Given the description of an element on the screen output the (x, y) to click on. 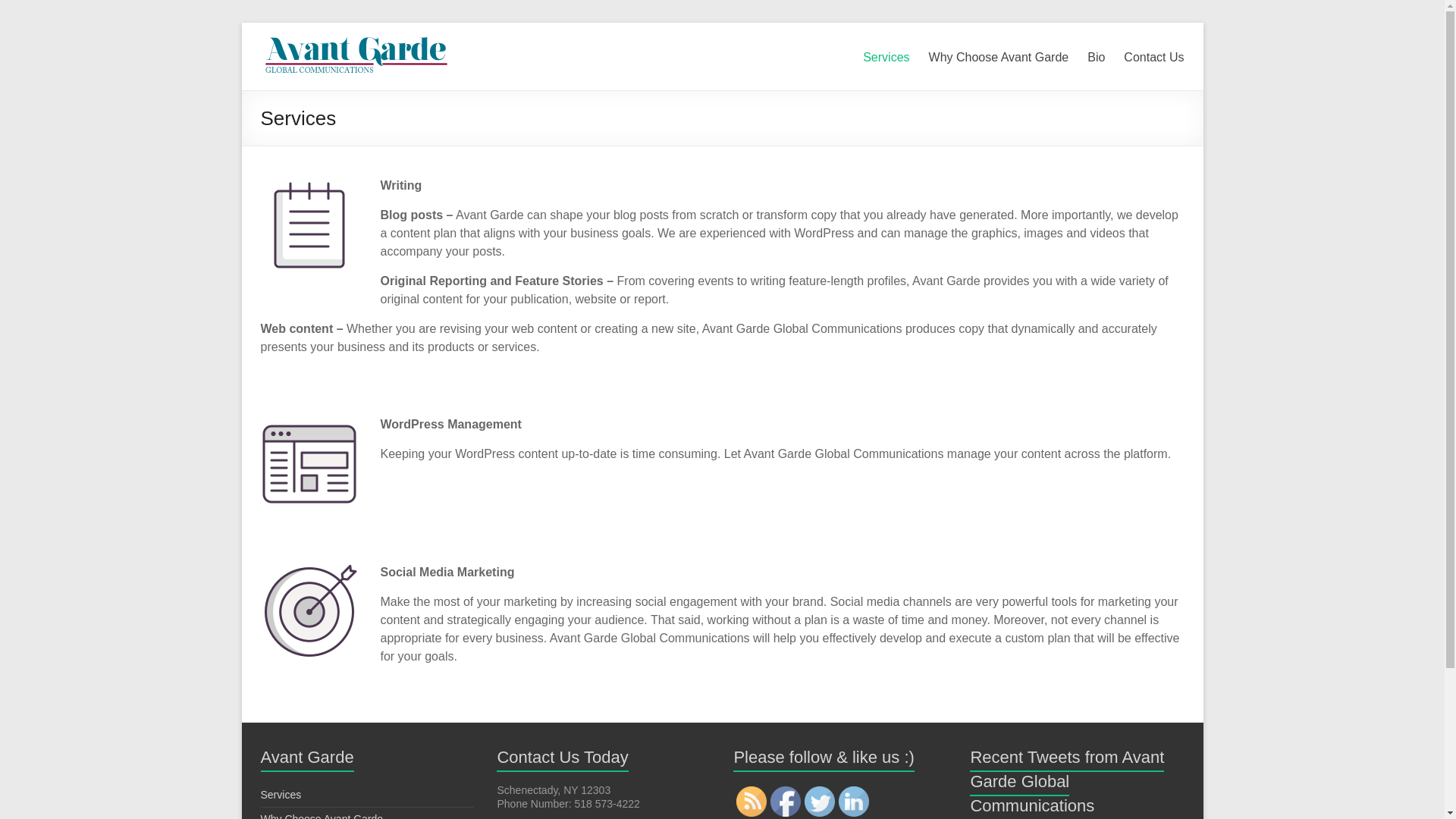
RSS (751, 801)
Services (885, 54)
Avant Garde (354, 41)
Facebook (785, 801)
Contact Us (1153, 54)
Twitter (819, 801)
Why Choose Avant Garde (322, 816)
Why Choose Avant Garde (998, 54)
LinkedIn (853, 801)
Services (280, 794)
